Given the description of an element on the screen output the (x, y) to click on. 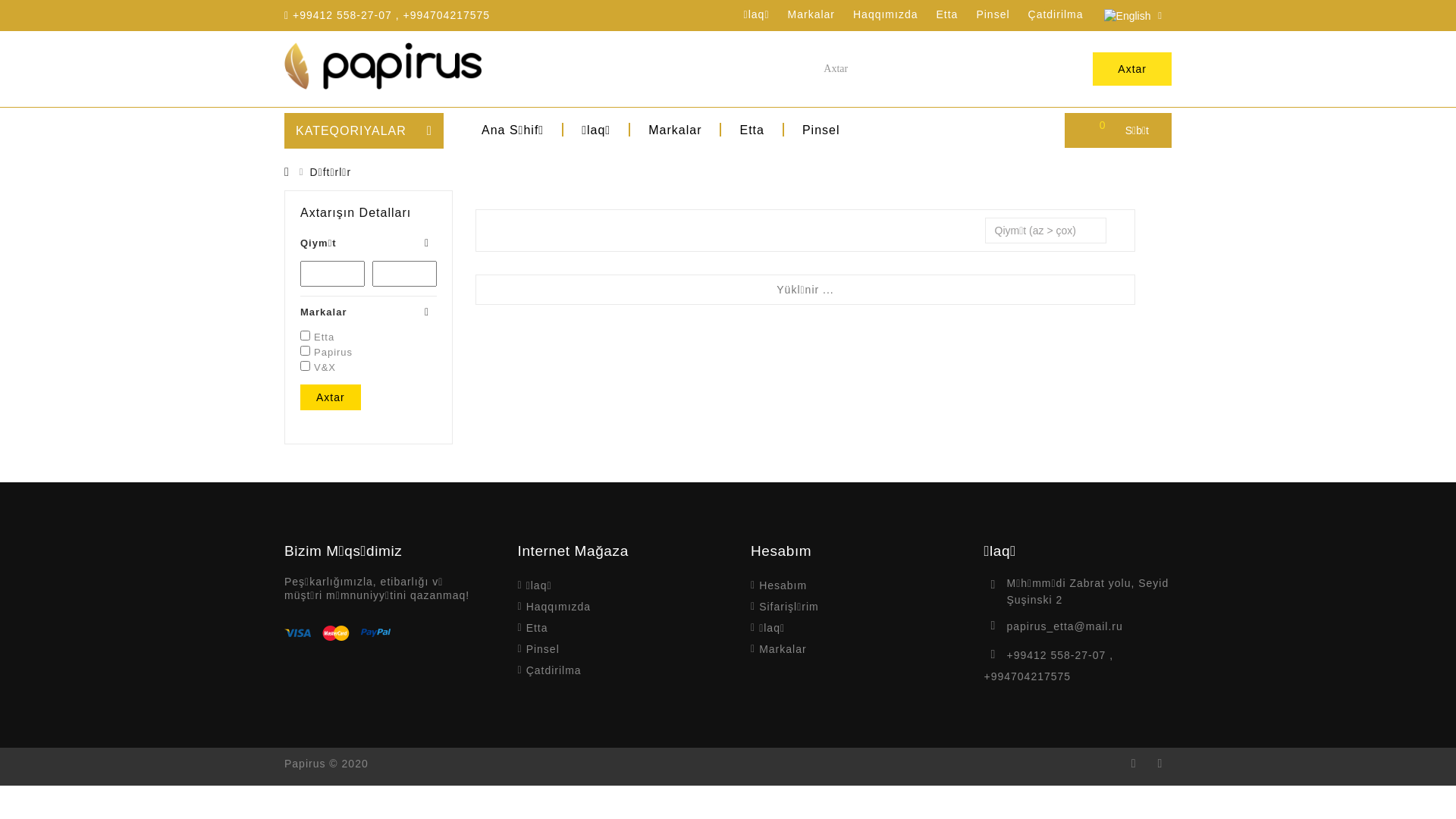
English Element type: hover (1127, 15)
Facebook Element type: hover (1133, 766)
Pinsel Element type: text (992, 14)
Pinsel Element type: text (821, 129)
papirus_etta@mail.ru Element type: text (1065, 626)
Etta Element type: text (537, 627)
Axtar Element type: text (330, 397)
Markalar Element type: text (368, 312)
Markalar Element type: text (810, 14)
Etta Element type: text (751, 129)
  Element type: text (1131, 15)
Markalar Element type: text (674, 129)
Pinsel Element type: text (542, 649)
Markalar Element type: text (782, 649)
instagram Element type: hover (1159, 766)
+99412 558-27-07 , +994704217575 Element type: text (1048, 665)
Etta Element type: text (946, 14)
Axtar Element type: text (1131, 68)
